Given the description of an element on the screen output the (x, y) to click on. 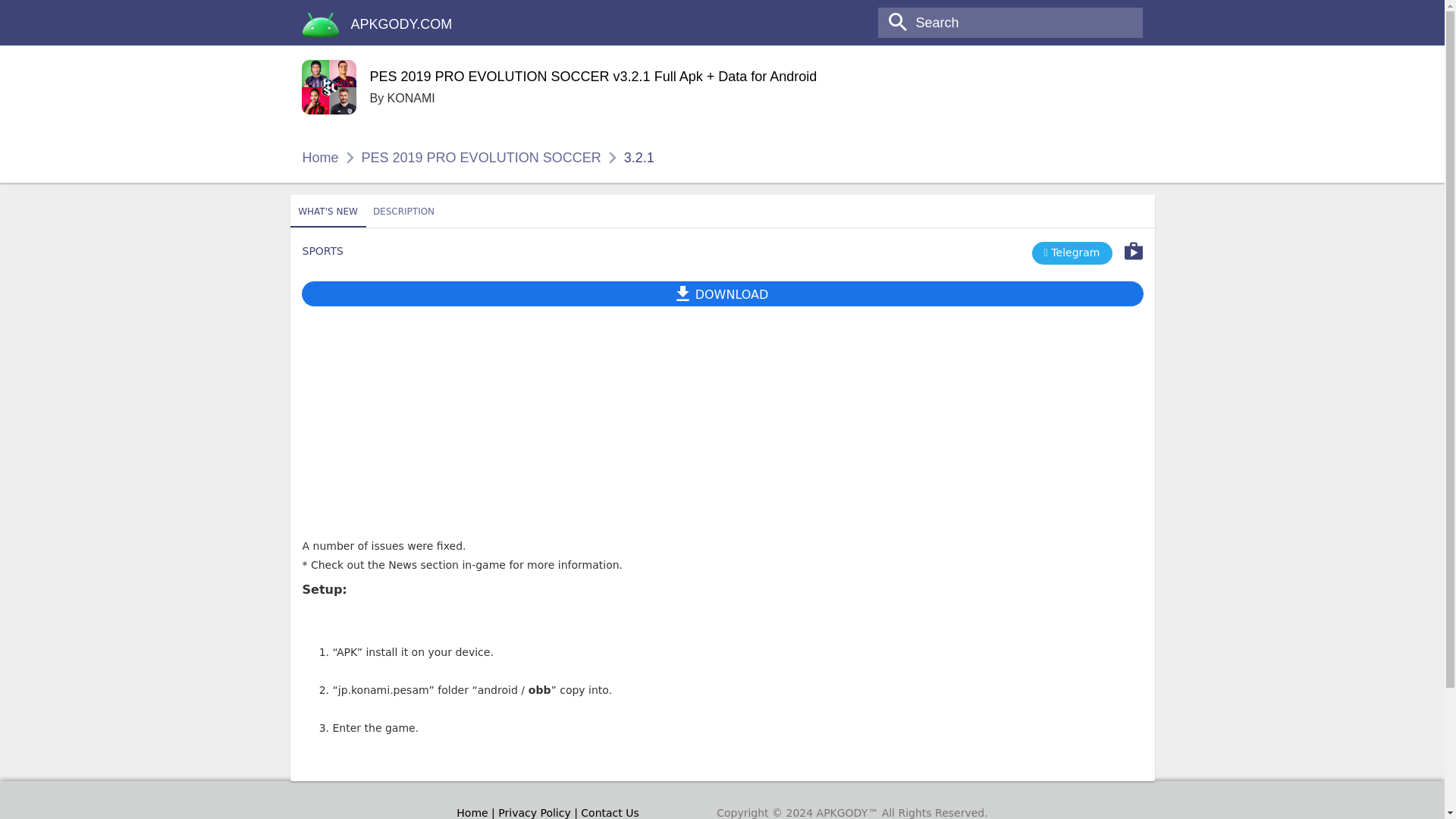
WHAT'S NEW (327, 211)
APKGODY.COM (401, 23)
Home (319, 157)
SPORTS (322, 250)
PES 2019 PRO EVOLUTION SOCCER (481, 157)
APKGODY.COM (401, 23)
Telegram (1072, 252)
GO (18, 13)
DOWNLOAD (721, 217)
Contact Us (721, 293)
DESCRIPTION (609, 812)
